Given the description of an element on the screen output the (x, y) to click on. 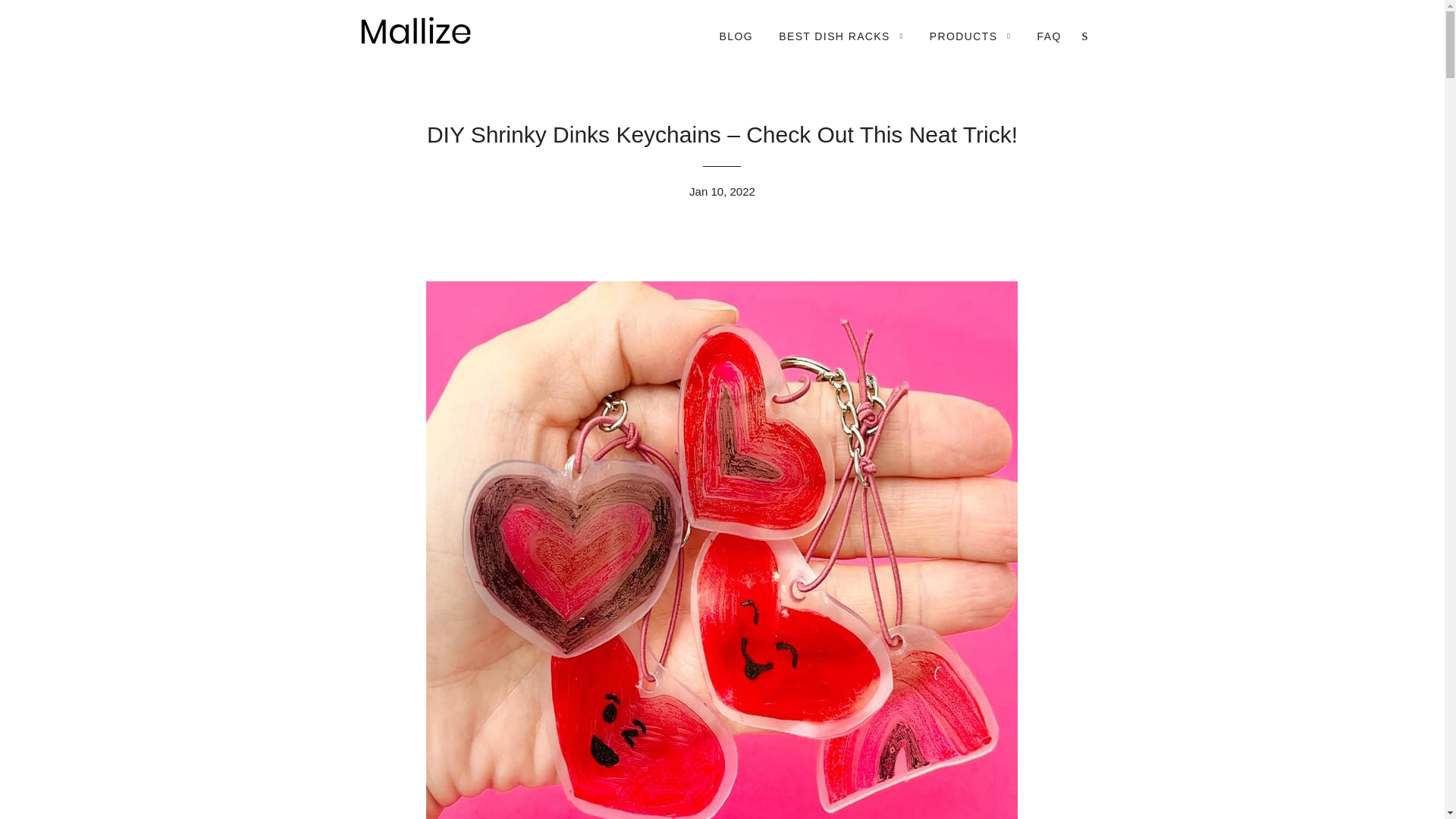
BEST DISH RACKS (840, 36)
BLOG (735, 36)
FAQ (1049, 36)
PRODUCTS (970, 36)
